Given the description of an element on the screen output the (x, y) to click on. 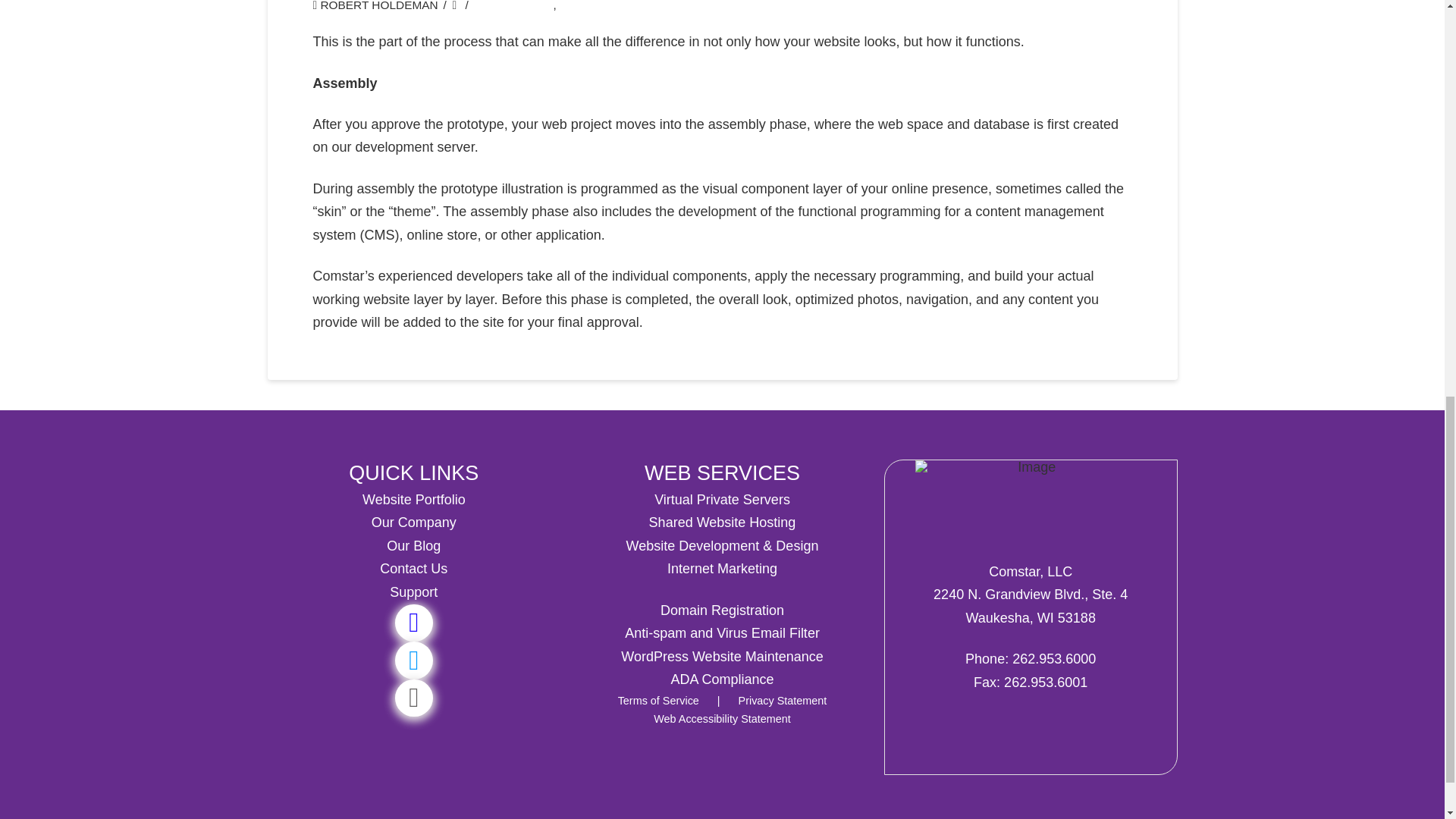
Contact Us (413, 568)
262.953.6000 (1053, 658)
WordPress Website Maintenance (721, 656)
    Privacy Statement (776, 700)
Anti-spam and Virus Email Filter (721, 632)
ADA Compliance (721, 679)
Domain Registration (722, 610)
Web Accessibility Statement (721, 718)
WEBSITE TIPS (602, 5)
Shared Website Hosting (722, 522)
